Given the description of an element on the screen output the (x, y) to click on. 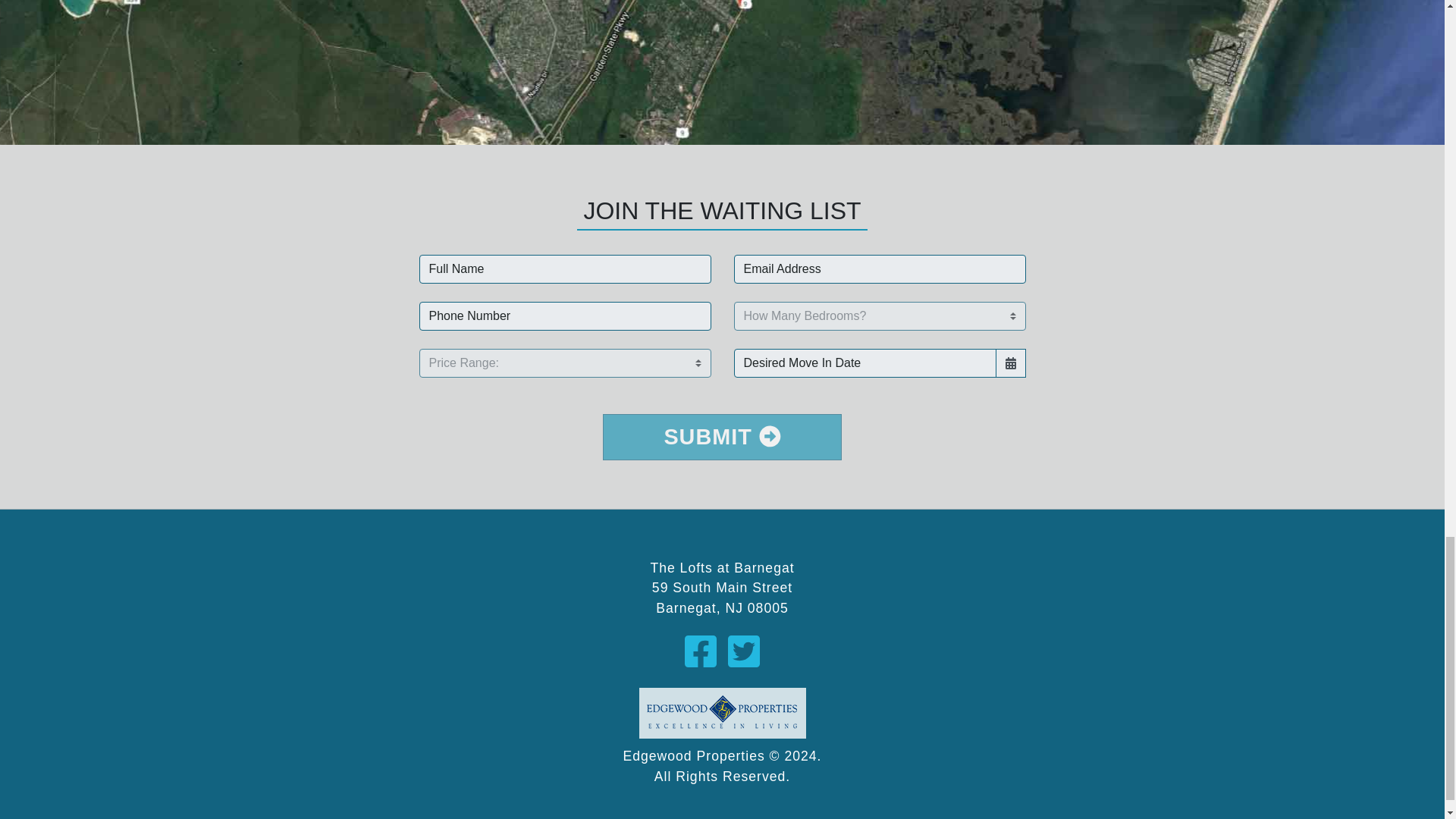
The Lofts at Barnegat Facebook (705, 652)
SUBMIT (722, 437)
